Given the description of an element on the screen output the (x, y) to click on. 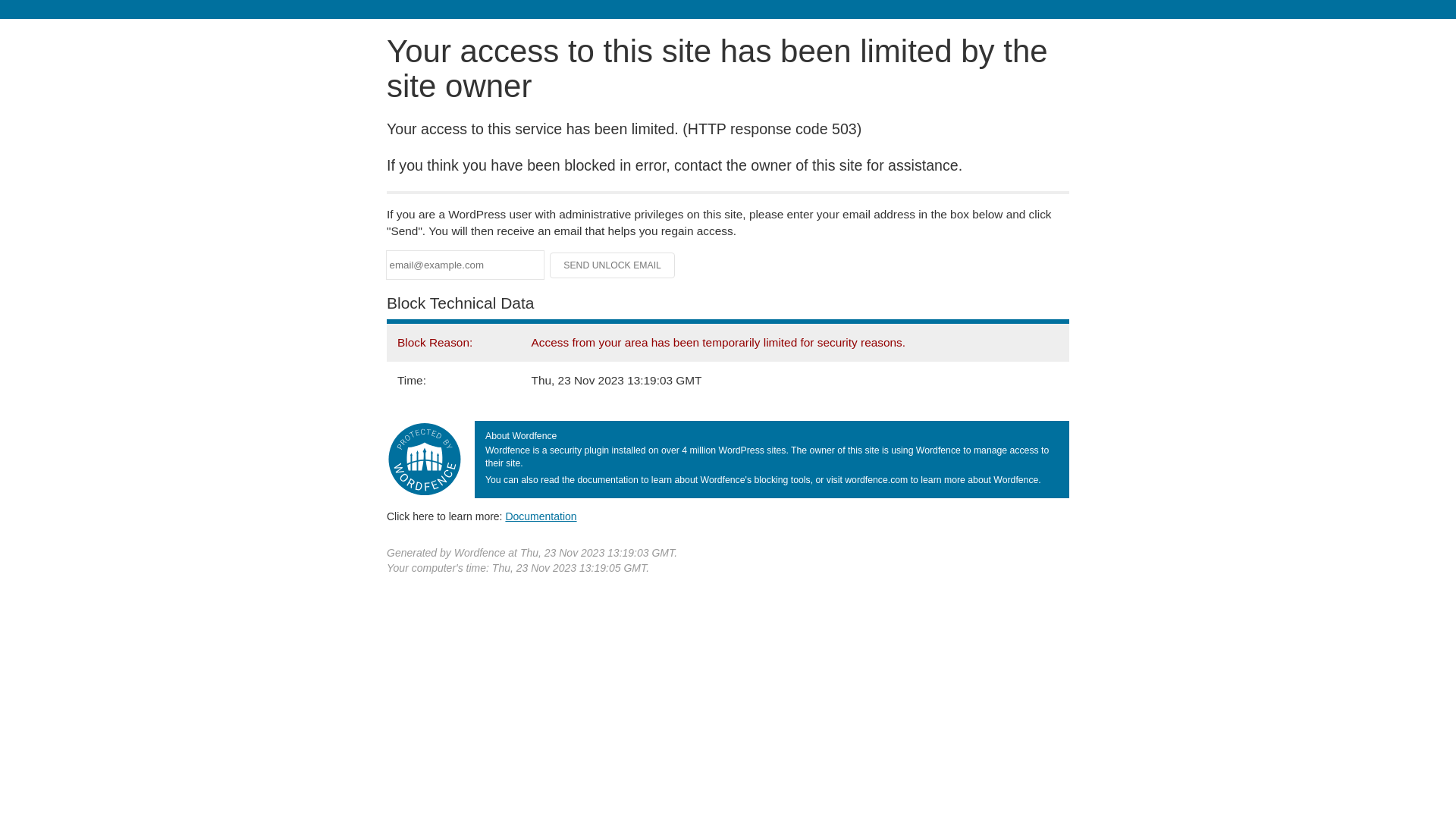
Send Unlock Email Element type: text (612, 265)
Documentation Element type: text (540, 516)
